Given the description of an element on the screen output the (x, y) to click on. 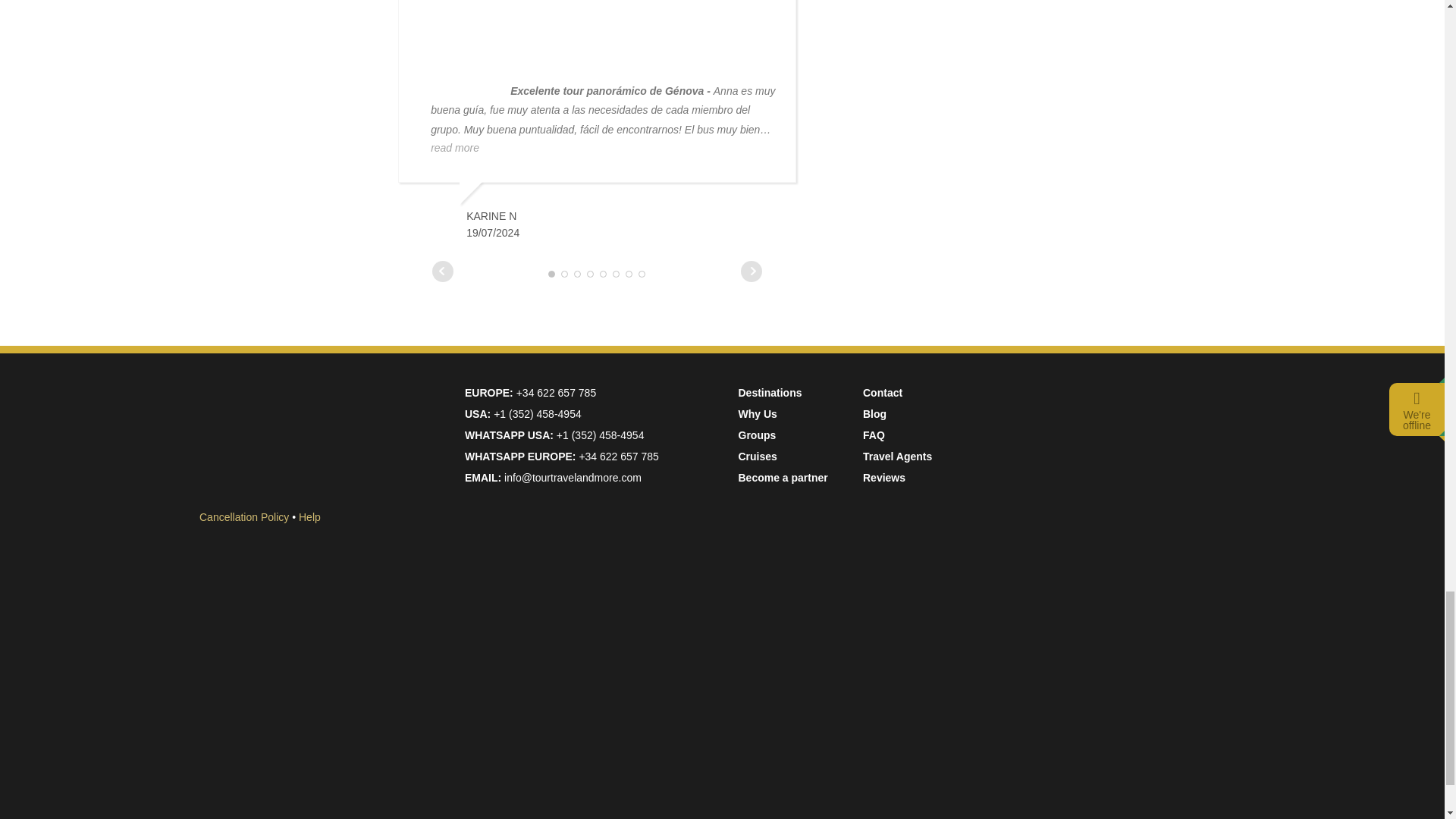
Twitter (1110, 668)
Pinterest (1109, 782)
Instagram (1110, 554)
Facebook (1110, 440)
